Given the description of an element on the screen output the (x, y) to click on. 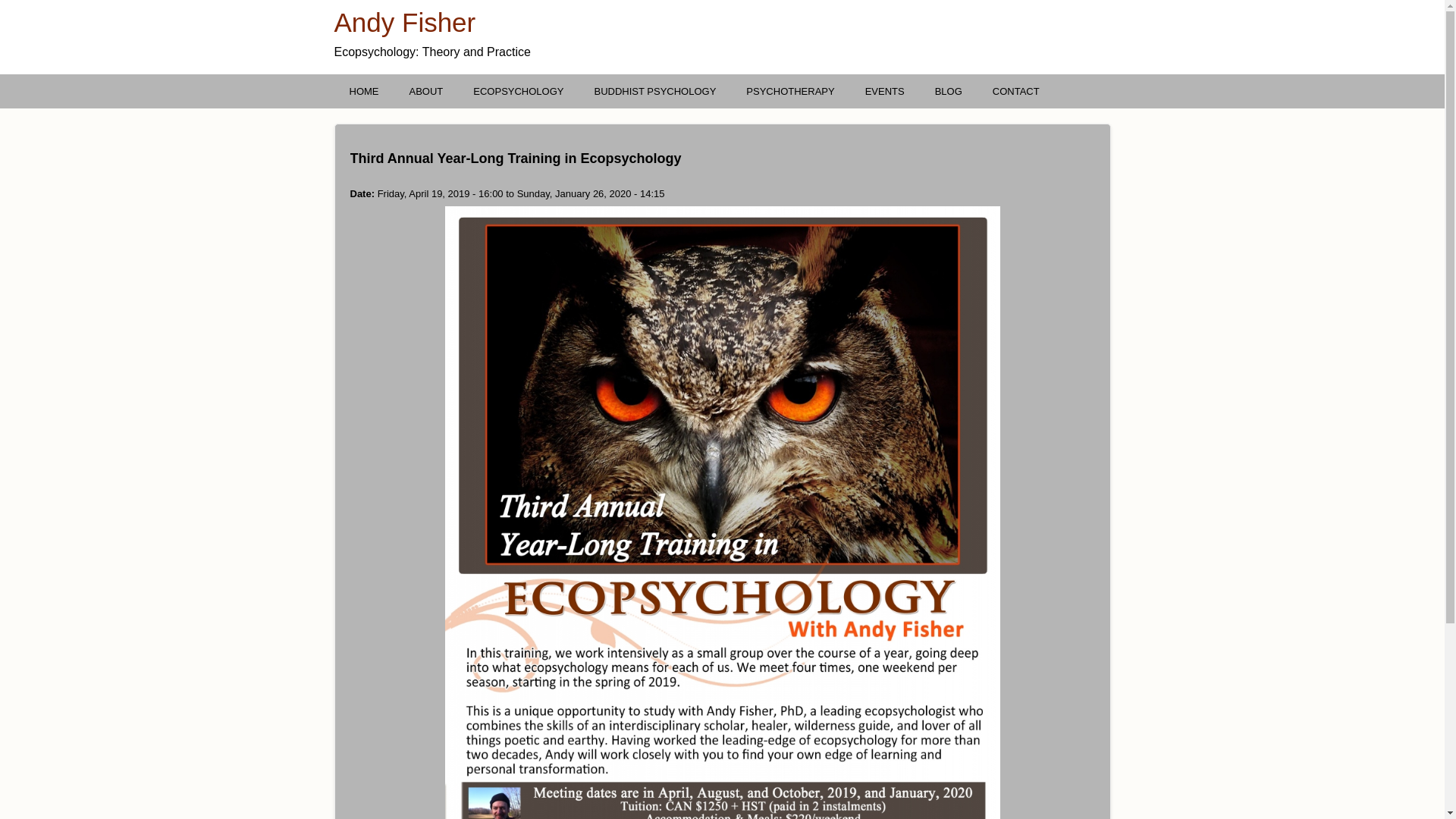
Andy Fisher Element type: text (404, 22)
CONTACT Element type: text (1015, 91)
ECOPSYCHOLOGY Element type: text (518, 91)
BLOG Element type: text (948, 91)
EVENTS Element type: text (884, 91)
BUDDHIST PSYCHOLOGY Element type: text (655, 91)
ABOUT Element type: text (426, 91)
PSYCHOTHERAPY Element type: text (790, 91)
HOME Element type: text (363, 91)
Skip to main content Element type: text (44, 0)
